Given the description of an element on the screen output the (x, y) to click on. 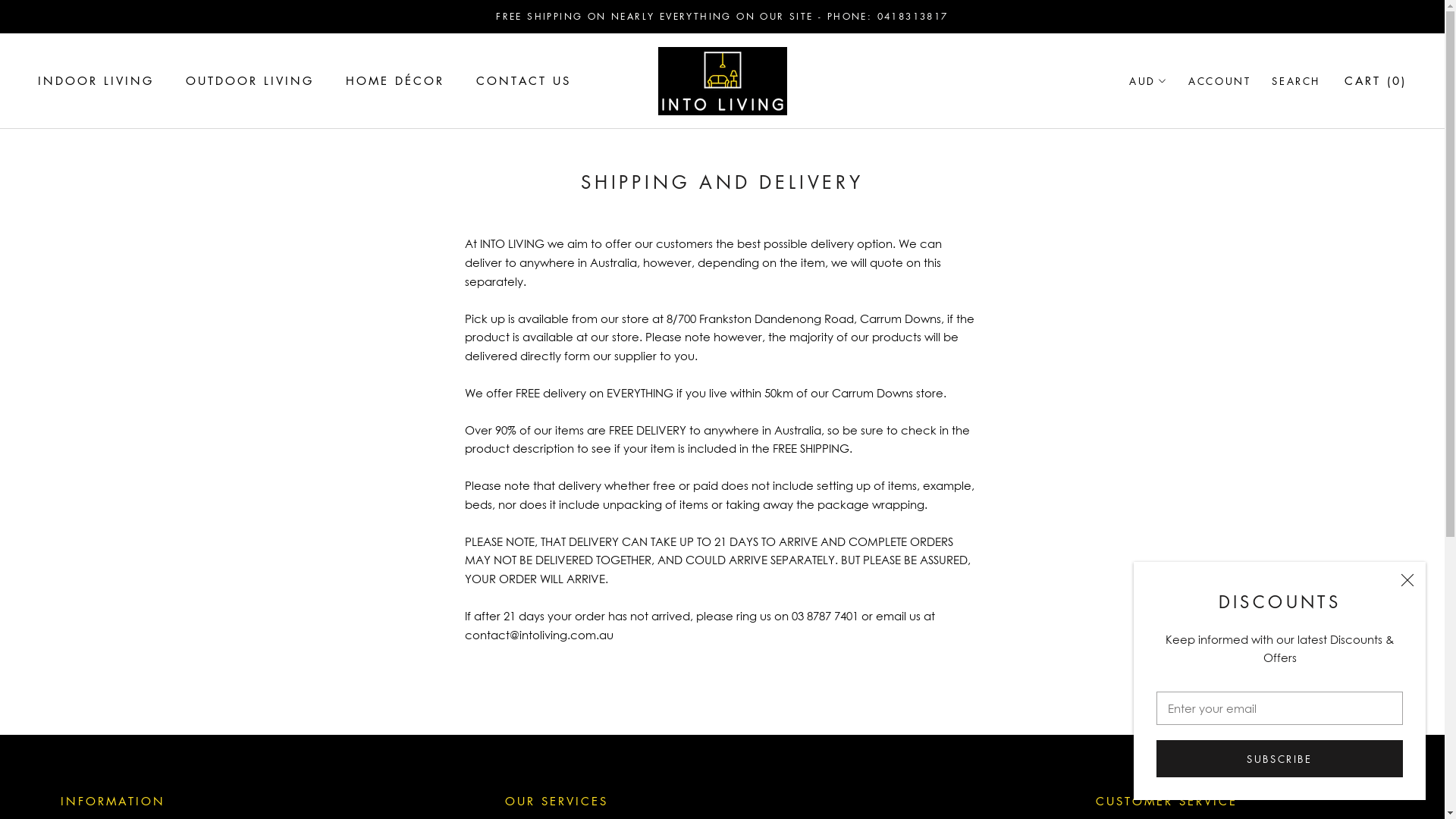
OUTDOOR LIVING Element type: text (249, 79)
ACCOUNT Element type: text (1219, 80)
CART (0) Element type: text (1375, 79)
CONTACT US
CONTACT US Element type: text (523, 79)
SEARCH Element type: text (1295, 80)
INDOOR LIVING Element type: text (95, 79)
